Given the description of an element on the screen output the (x, y) to click on. 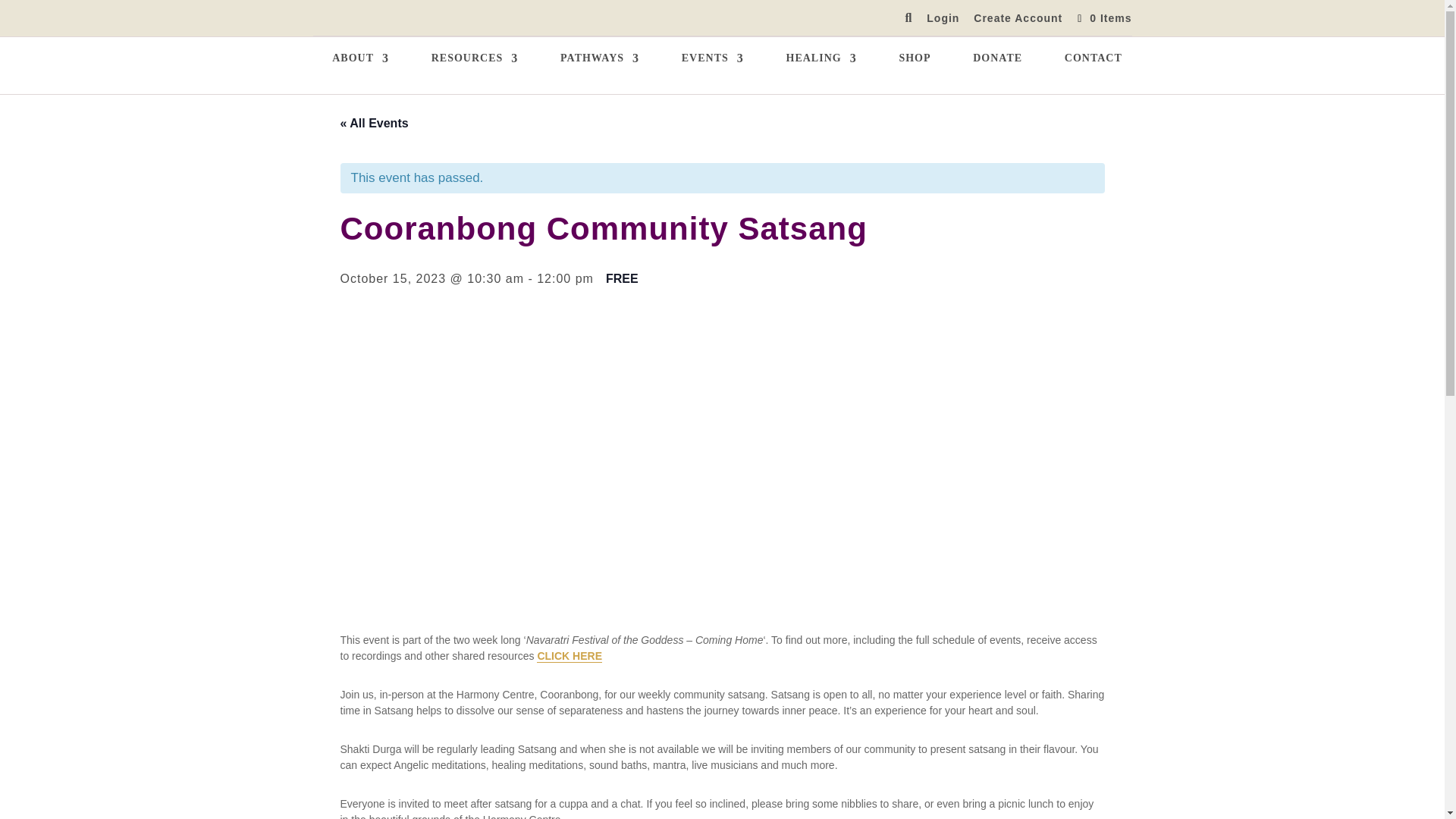
HEALING (821, 73)
RESOURCES (474, 73)
Create Account (1018, 21)
PATHWAYS (599, 73)
EVENTS (712, 73)
ABOUT (359, 73)
Login (942, 21)
0 Items (1102, 18)
